Given the description of an element on the screen output the (x, y) to click on. 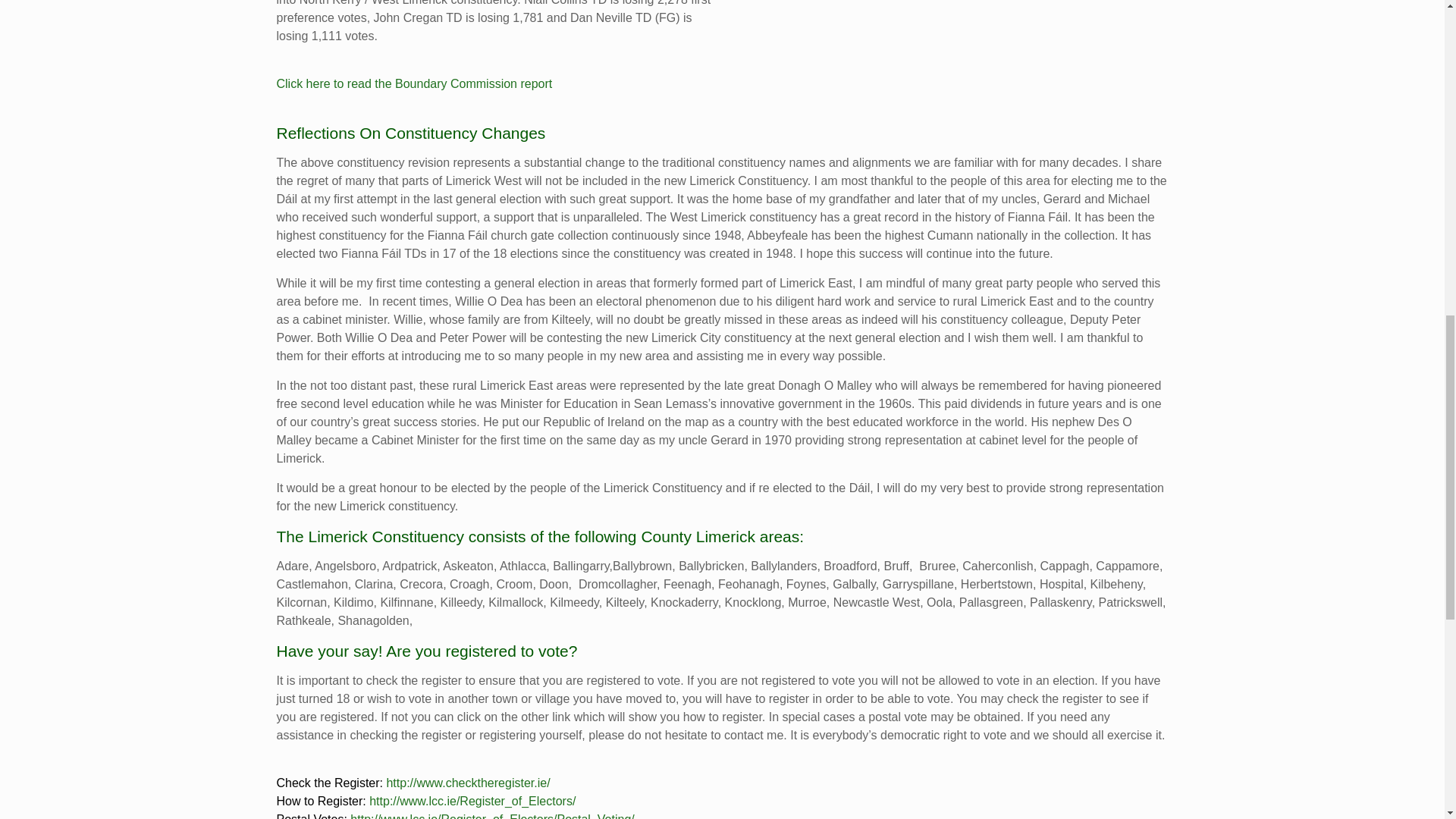
Click here to read the Boundary Commission report (413, 83)
